Given the description of an element on the screen output the (x, y) to click on. 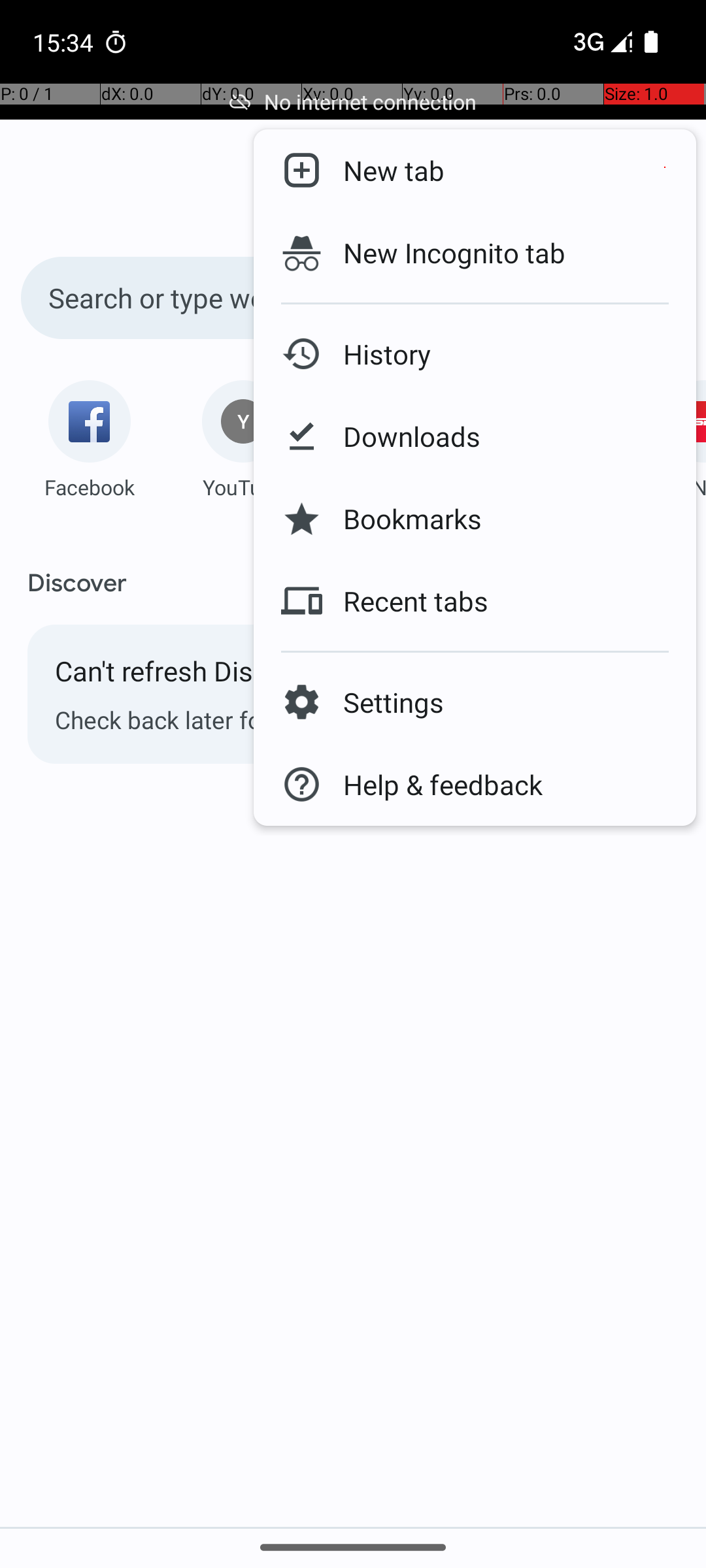
Bookmarks Element type: android.widget.TextView (401, 518)
Recent tabs Element type: android.widget.TextView (405, 600)
